Given the description of an element on the screen output the (x, y) to click on. 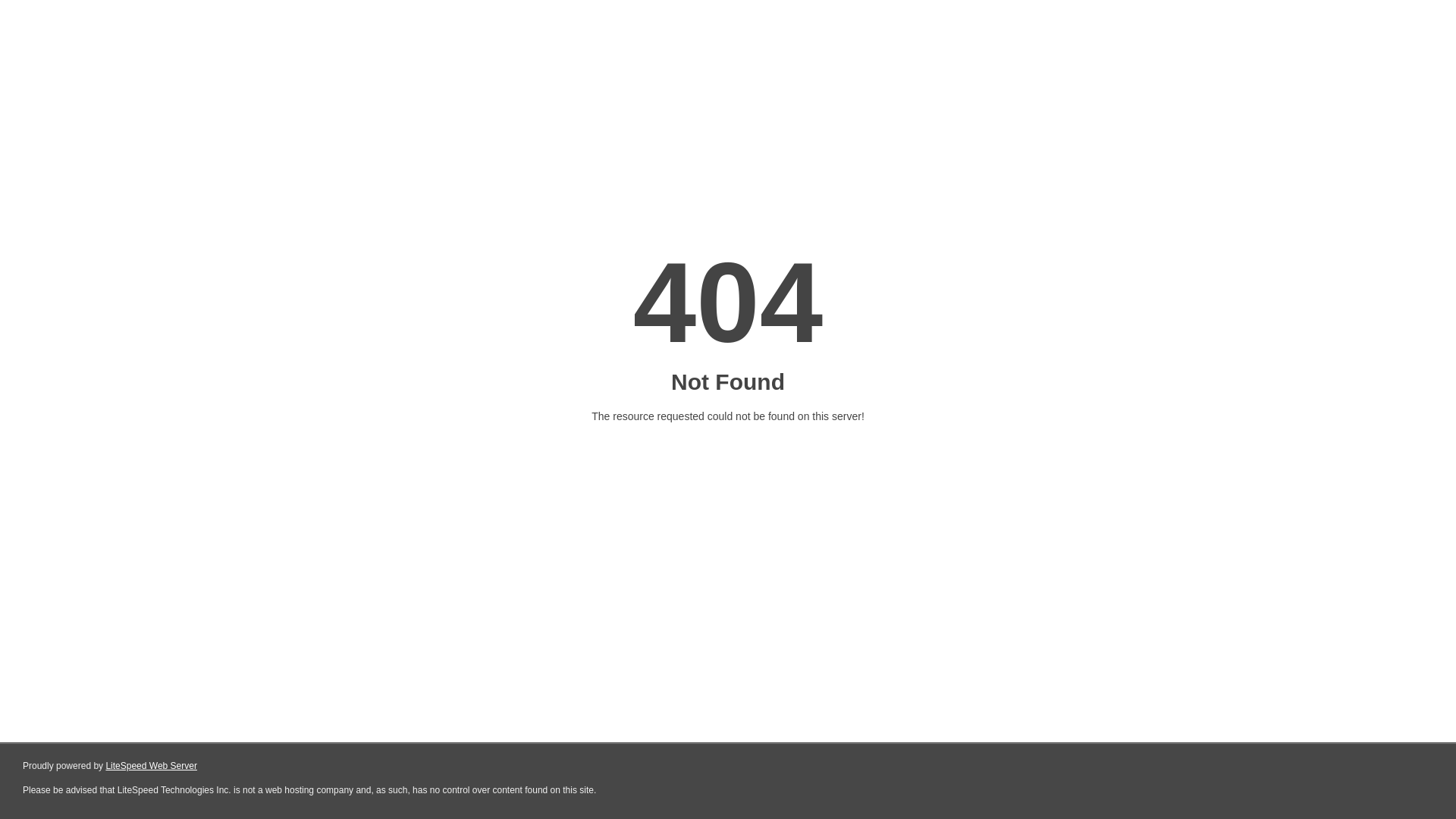
LiteSpeed Web Server Element type: text (151, 765)
